Given the description of an element on the screen output the (x, y) to click on. 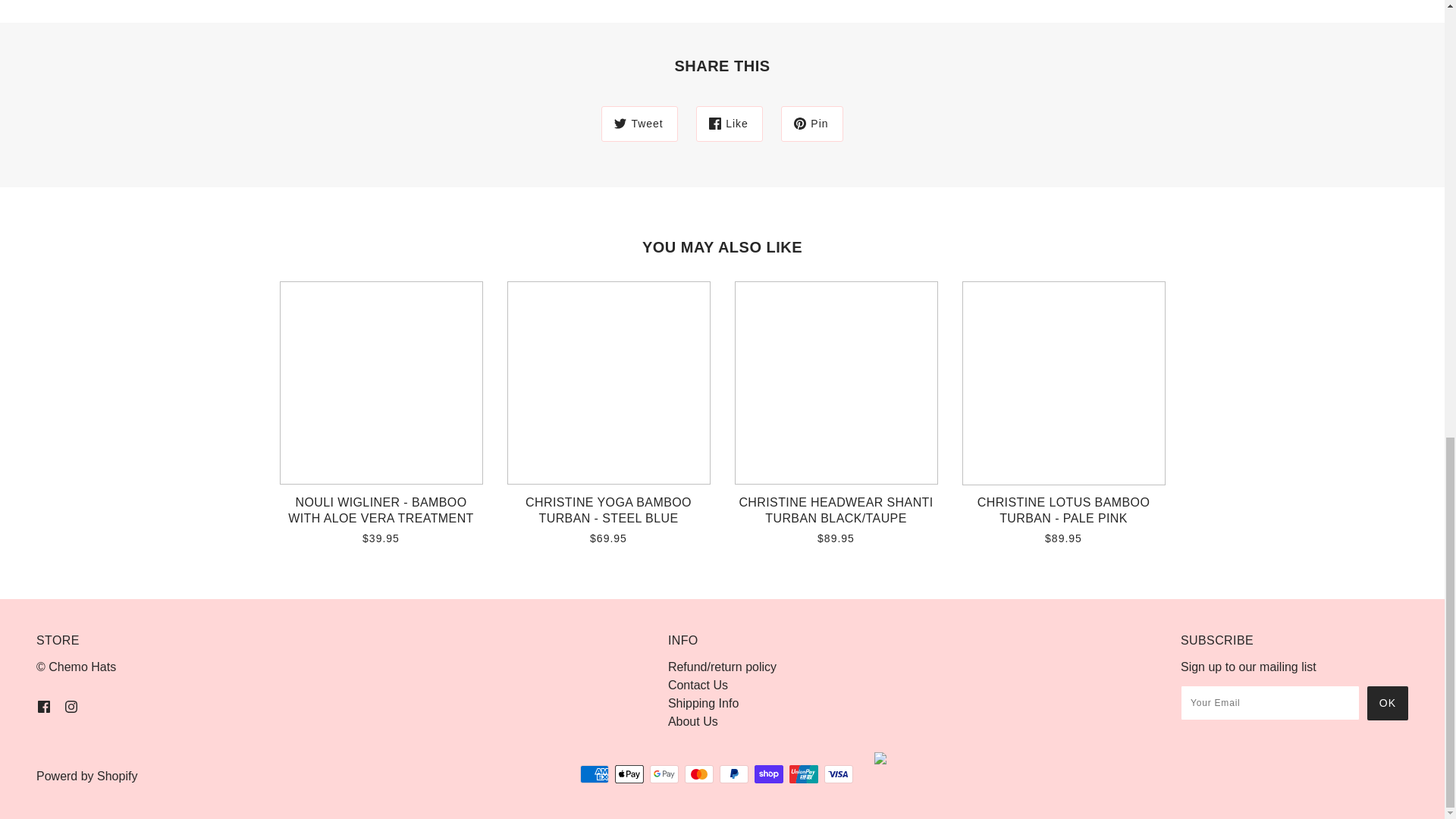
Ok (1387, 703)
PayPal (733, 773)
Apple Pay (628, 773)
NOULI WIGLINER - BAMBOO WITH ALOE VERA TREATMENT (380, 515)
Like (728, 124)
Union Pay (803, 773)
Contact Us (698, 684)
Mastercard (698, 773)
Pin (811, 124)
About Us (692, 721)
Tweet (639, 124)
Visa (838, 773)
Shipping Info (703, 703)
American Express (593, 773)
Shop Pay (768, 773)
